Given the description of an element on the screen output the (x, y) to click on. 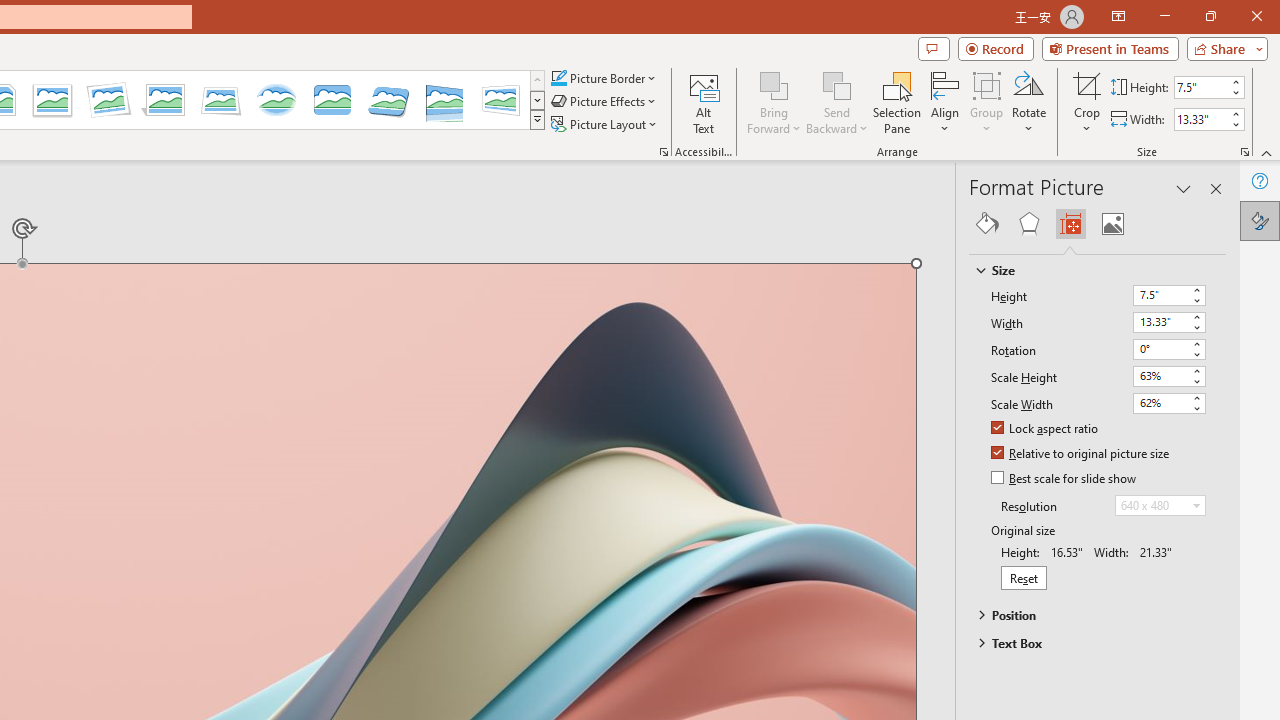
Picture... (663, 151)
Reflected Perspective Right (445, 100)
Picture Layout (605, 124)
Crop (1087, 102)
Rotated, White (108, 100)
Resolution (1159, 505)
Alt Text (703, 102)
Height (1168, 295)
Selection Pane... (897, 102)
Picture Border (603, 78)
Rotation (1168, 349)
Send Backward (836, 102)
Bring Forward (773, 84)
